Given the description of an element on the screen output the (x, y) to click on. 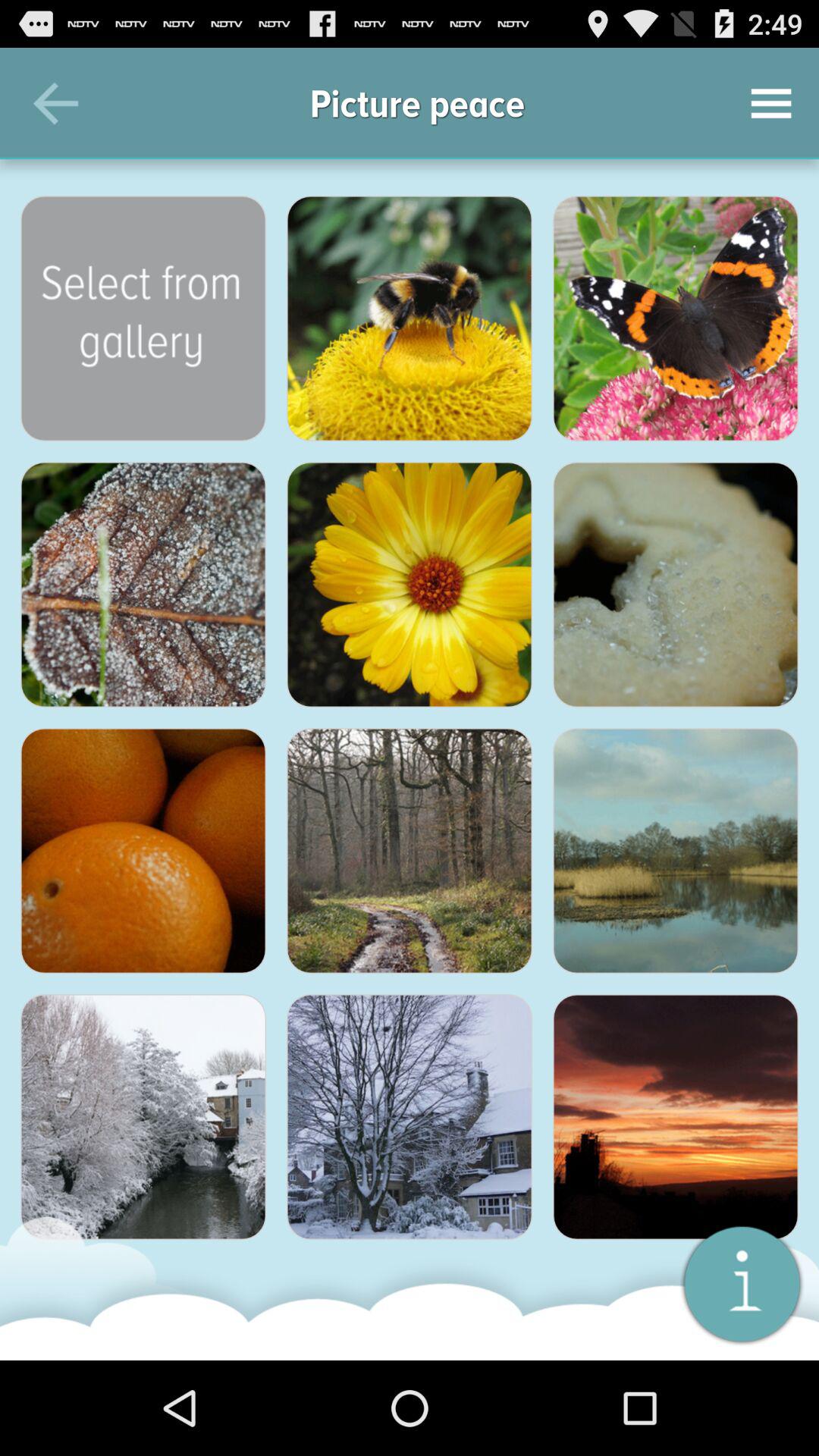
pick this photo (675, 584)
